Given the description of an element on the screen output the (x, y) to click on. 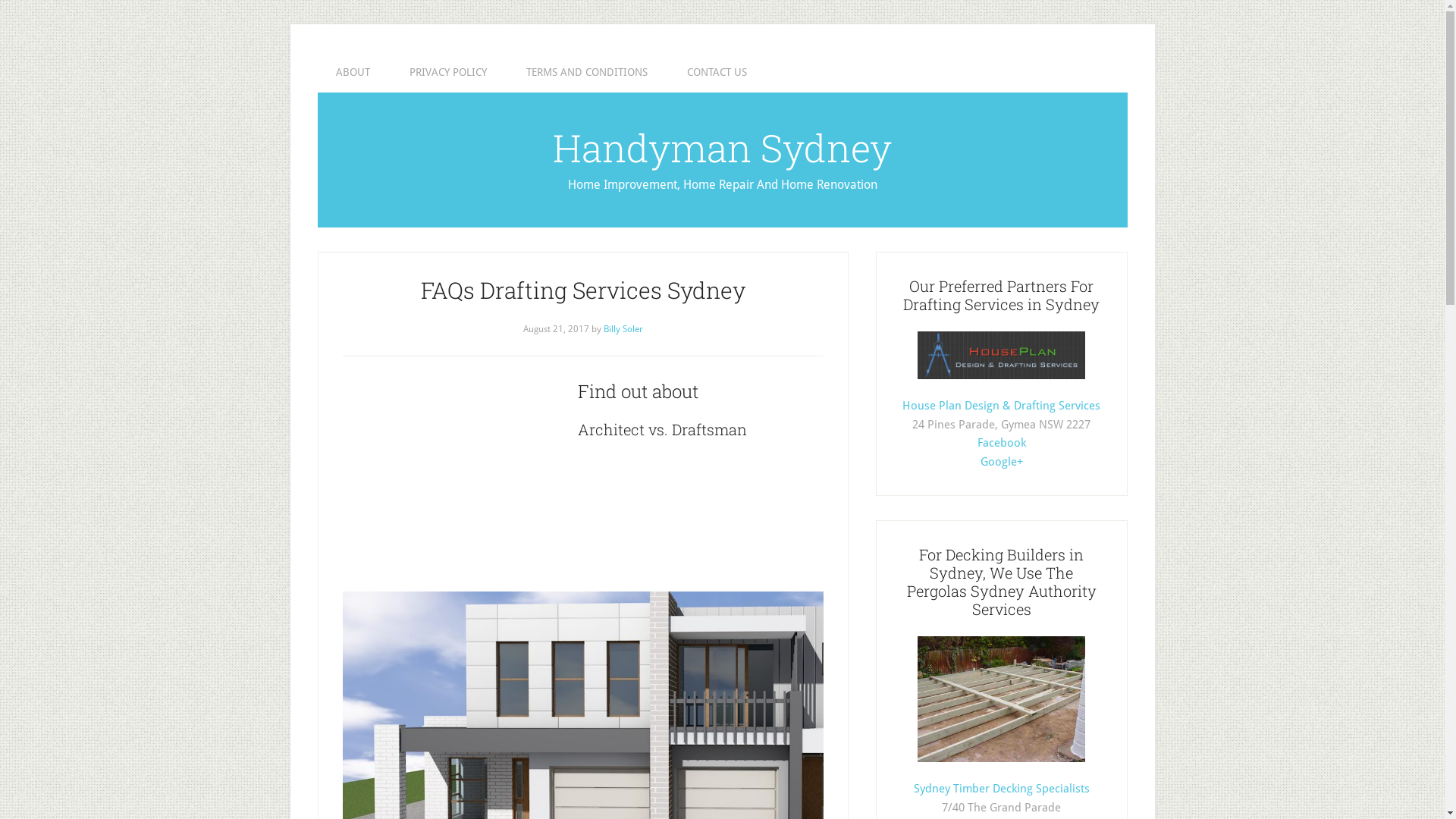
Billy Soler Element type: text (623, 328)
ABOUT Element type: text (351, 71)
Advertisement Element type: hover (456, 482)
Handyman Sydney Element type: text (721, 147)
House Plan Design & Drafting Services Element type: text (1001, 405)
Google+ Element type: text (1000, 461)
PRIVACY POLICY Element type: text (448, 71)
TERMS AND CONDITIONS Element type: text (586, 71)
Facebook Element type: text (1000, 442)
Sydney Timber Decking Specialists Element type: text (1000, 788)
CONTACT US Element type: text (716, 71)
